Given the description of an element on the screen output the (x, y) to click on. 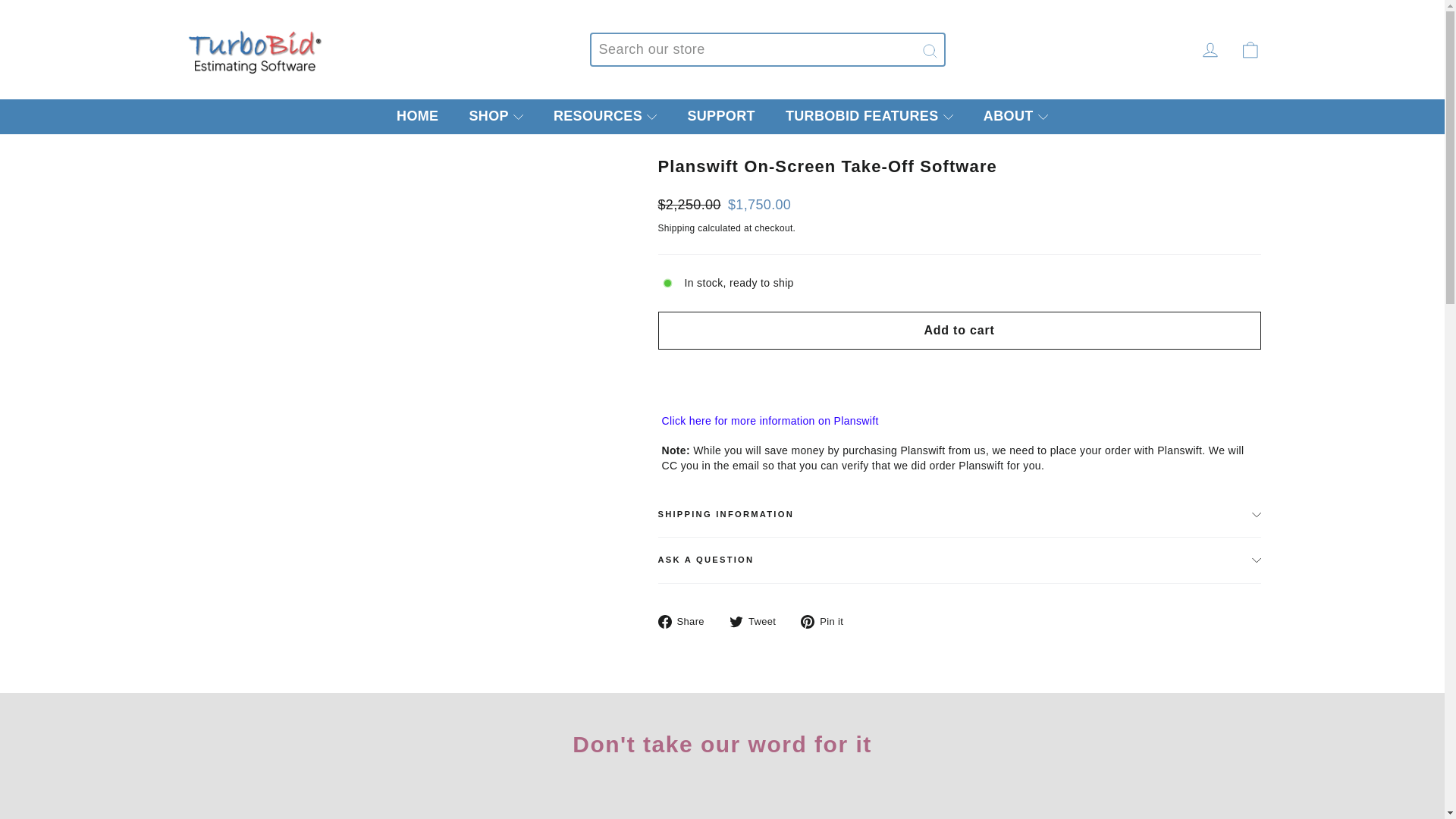
Share on Facebook (687, 622)
Planswift's Website. (769, 428)
Pin on Pinterest (827, 622)
Tweet on Twitter (758, 622)
